Given the description of an element on the screen output the (x, y) to click on. 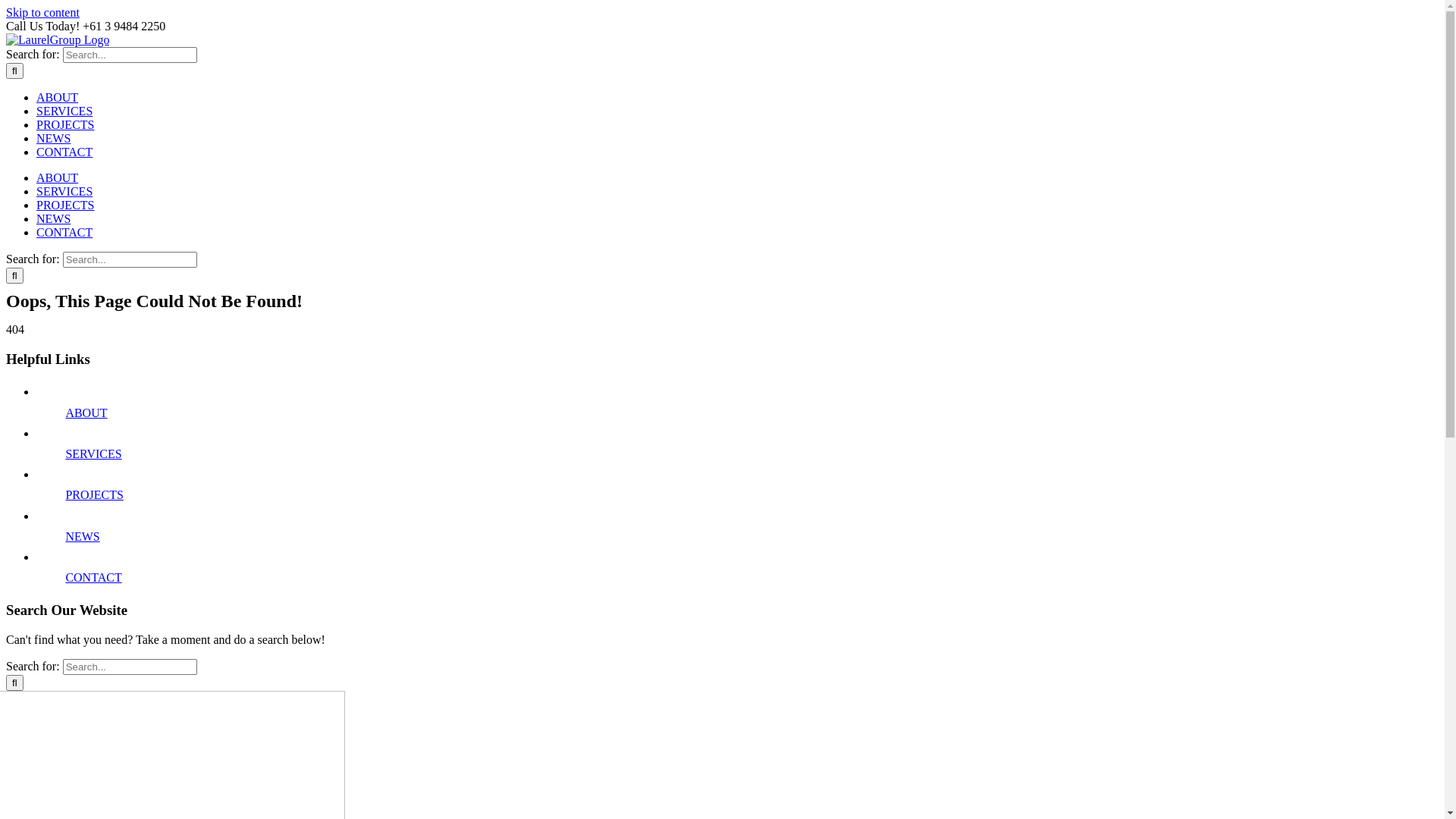
NEWS Element type: text (82, 536)
PROJECTS Element type: text (93, 494)
NEWS Element type: text (53, 218)
Skip to content Element type: text (42, 12)
SERVICES Element type: text (64, 110)
CONTACT Element type: text (93, 577)
CONTACT Element type: text (64, 231)
PROJECTS Element type: text (65, 204)
ABOUT Element type: text (85, 412)
ABOUT Element type: text (57, 177)
NEWS Element type: text (53, 137)
SERVICES Element type: text (64, 191)
CONTACT Element type: text (64, 151)
PROJECTS Element type: text (65, 124)
SERVICES Element type: text (93, 453)
ABOUT Element type: text (57, 97)
